Given the description of an element on the screen output the (x, y) to click on. 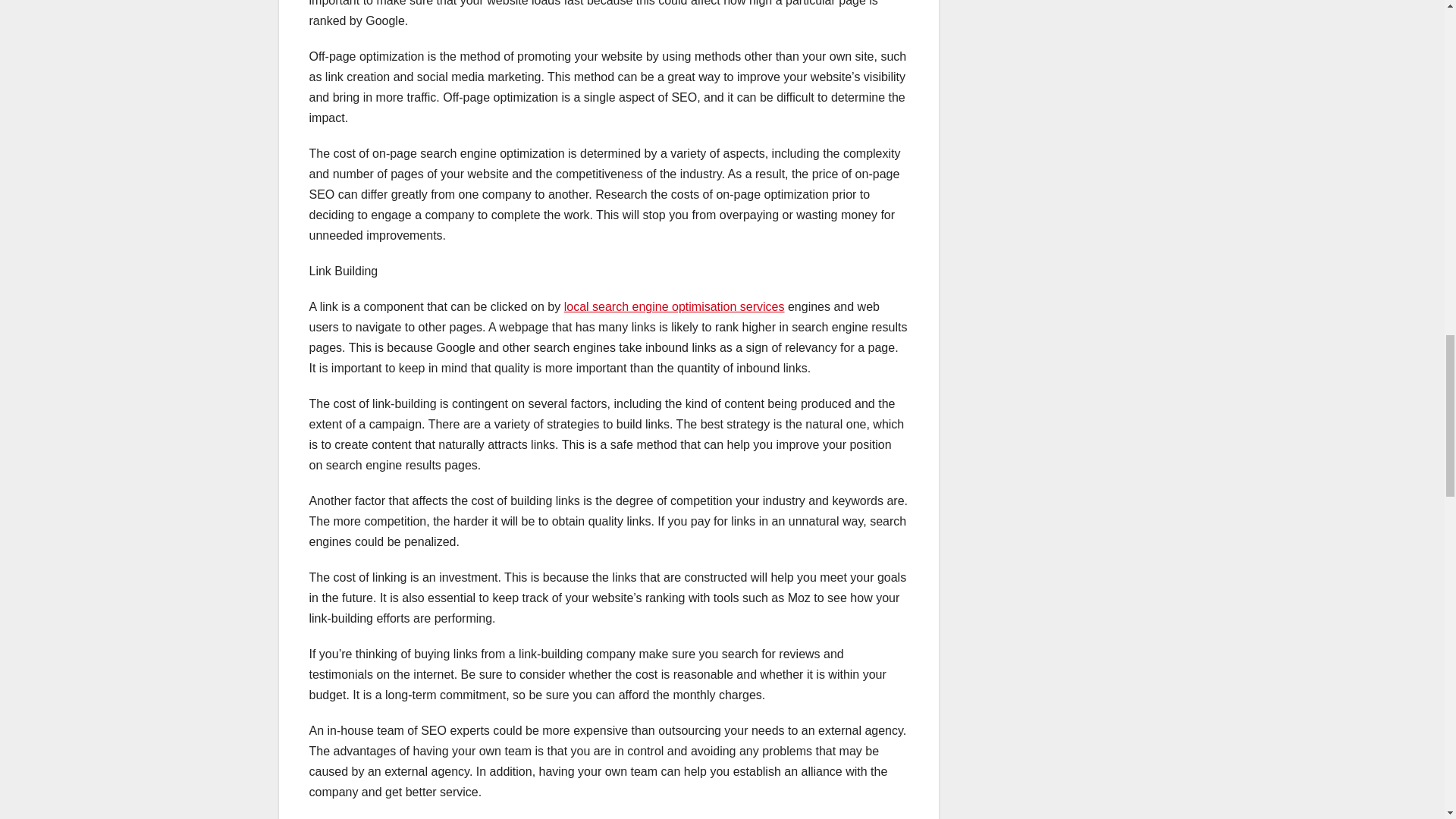
local search engine optimisation services (674, 306)
